Given the description of an element on the screen output the (x, y) to click on. 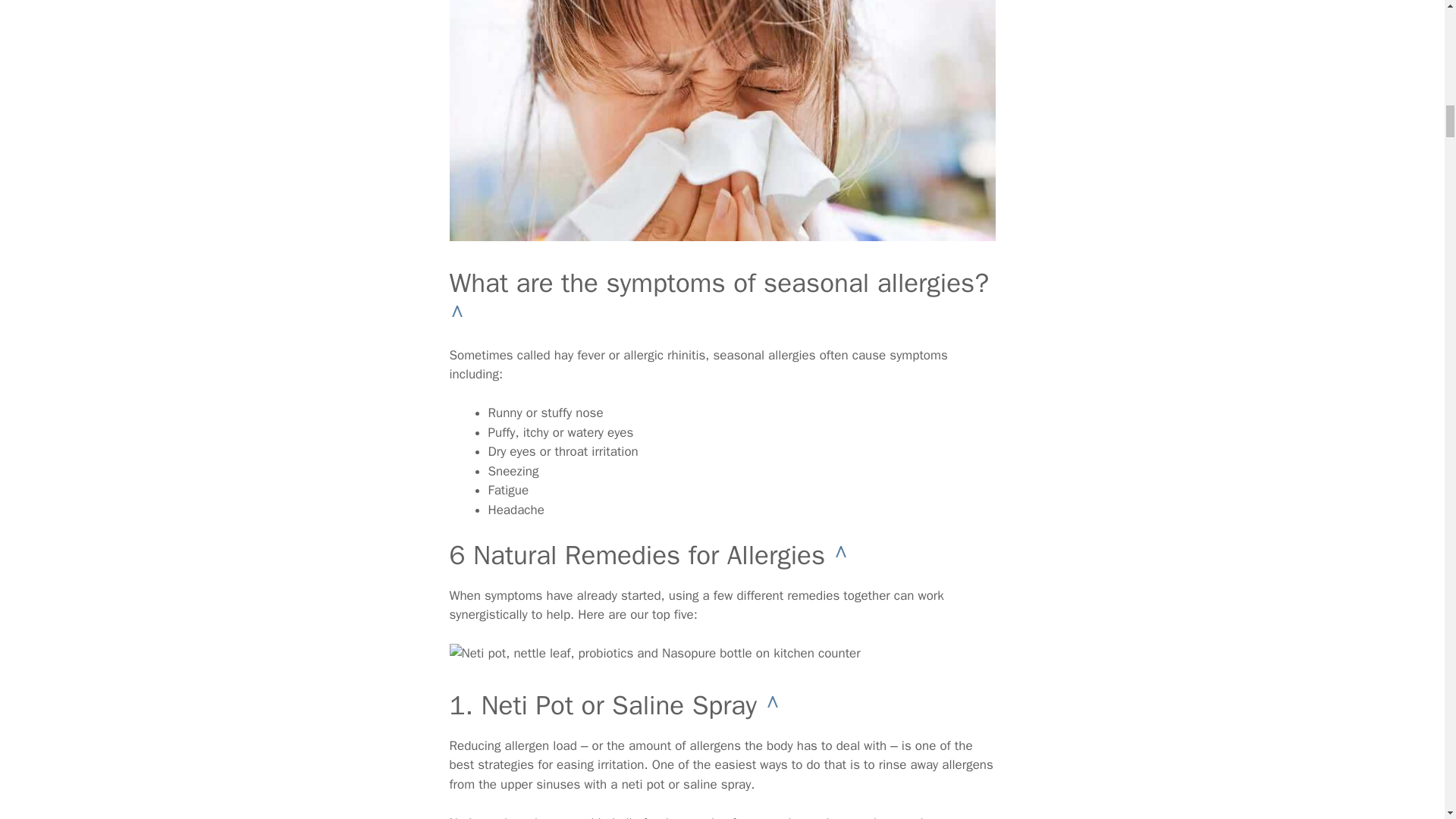
Back to table of contents (840, 554)
Back to table of contents (772, 704)
Back to table of contents (456, 314)
